Given the description of an element on the screen output the (x, y) to click on. 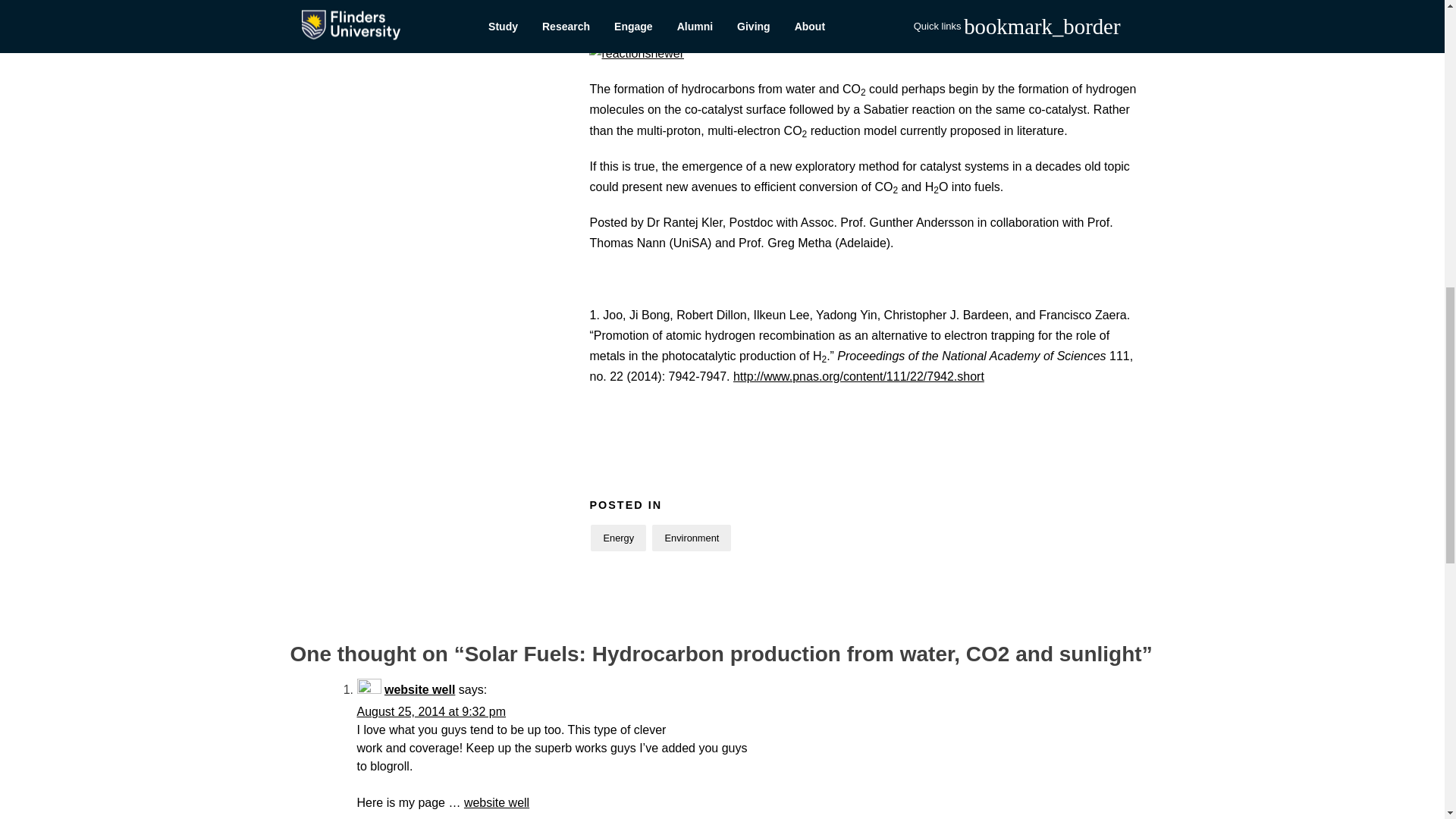
website well (419, 689)
August 25, 2014 at 9:32 pm (430, 711)
Environment (691, 537)
website well (496, 802)
Energy (618, 537)
